Given the description of an element on the screen output the (x, y) to click on. 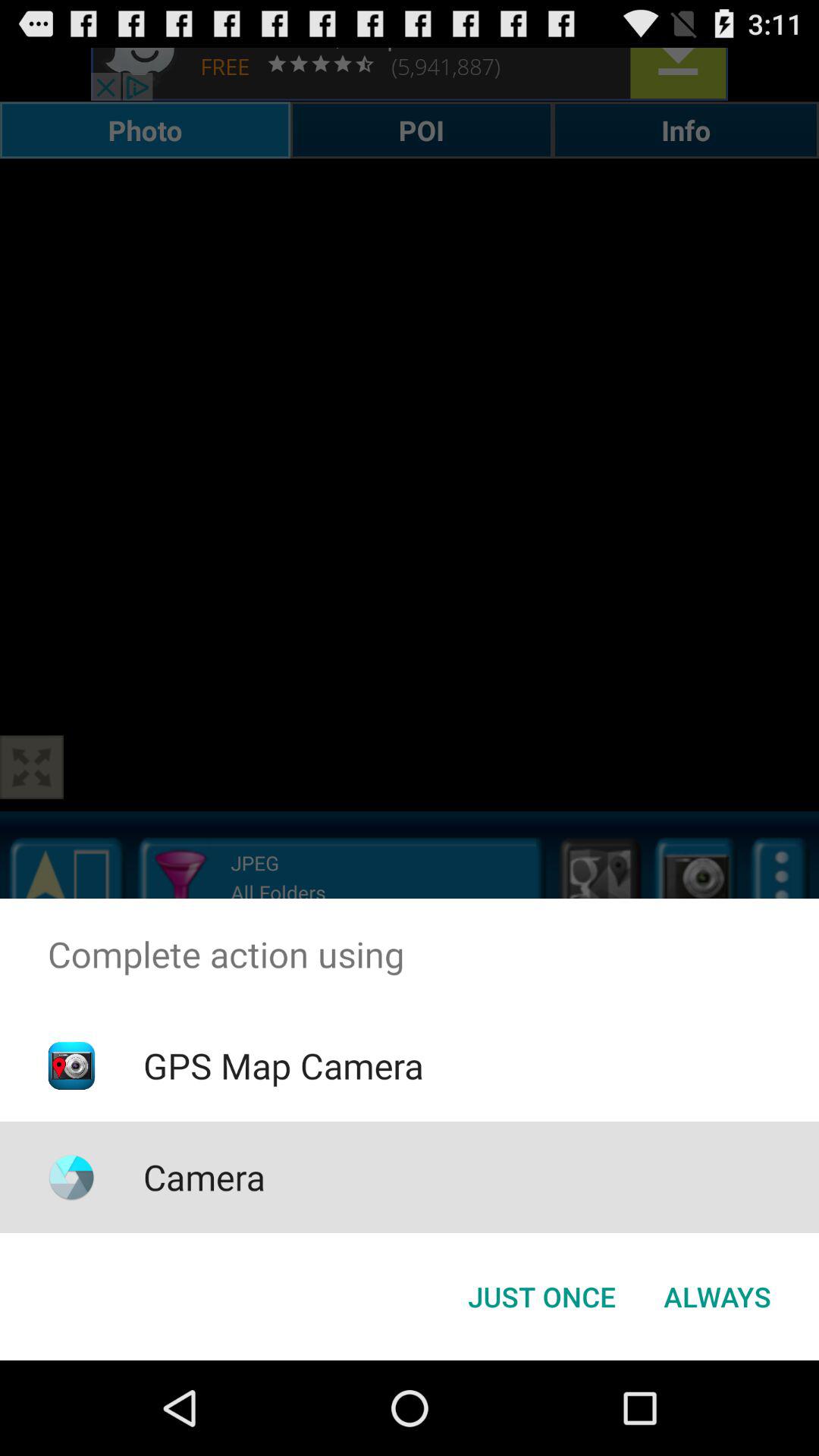
select app below complete action using item (541, 1296)
